Given the description of an element on the screen output the (x, y) to click on. 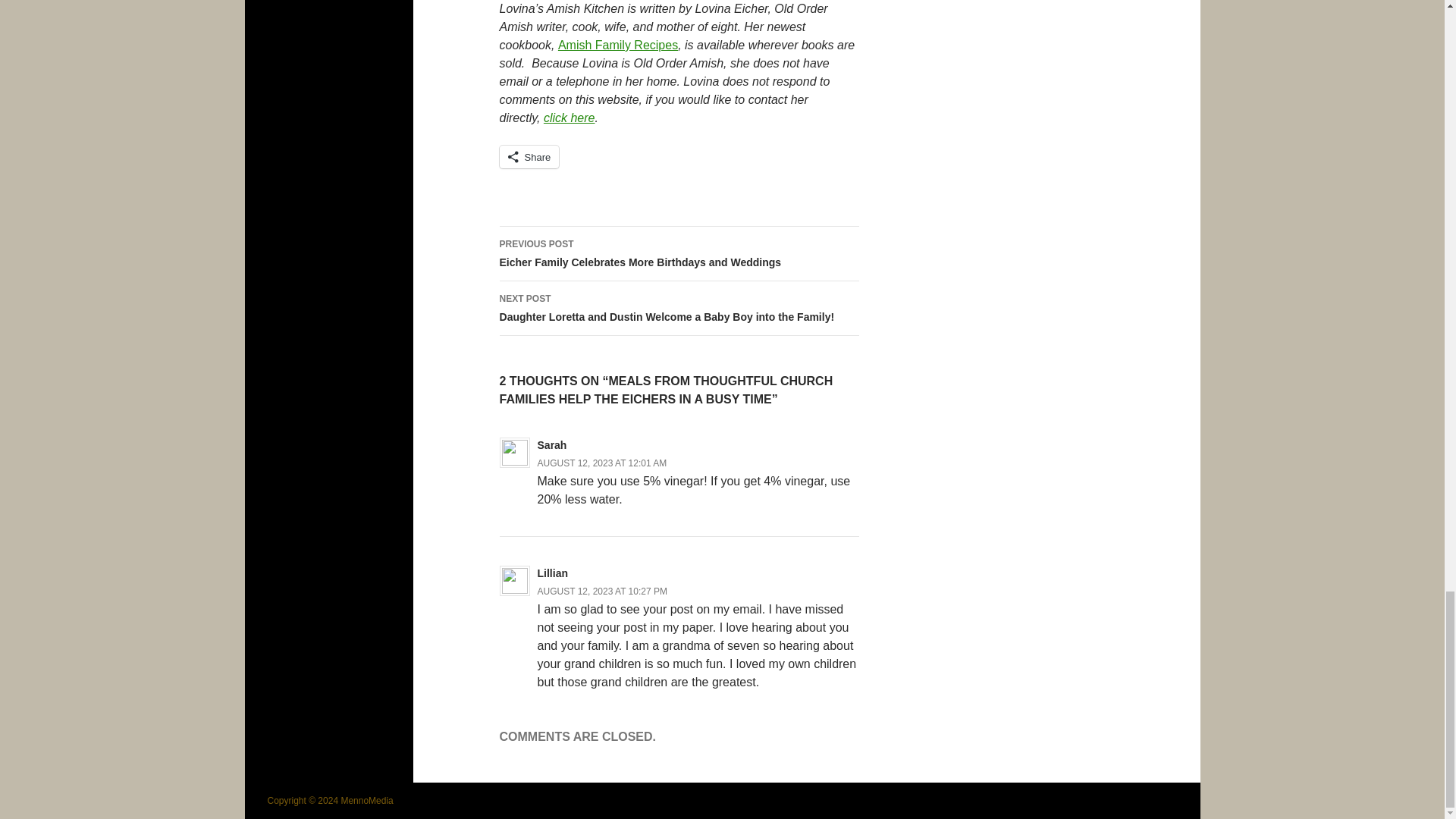
Share (529, 156)
Amish Family Recipes (617, 44)
click here (569, 117)
